Given the description of an element on the screen output the (x, y) to click on. 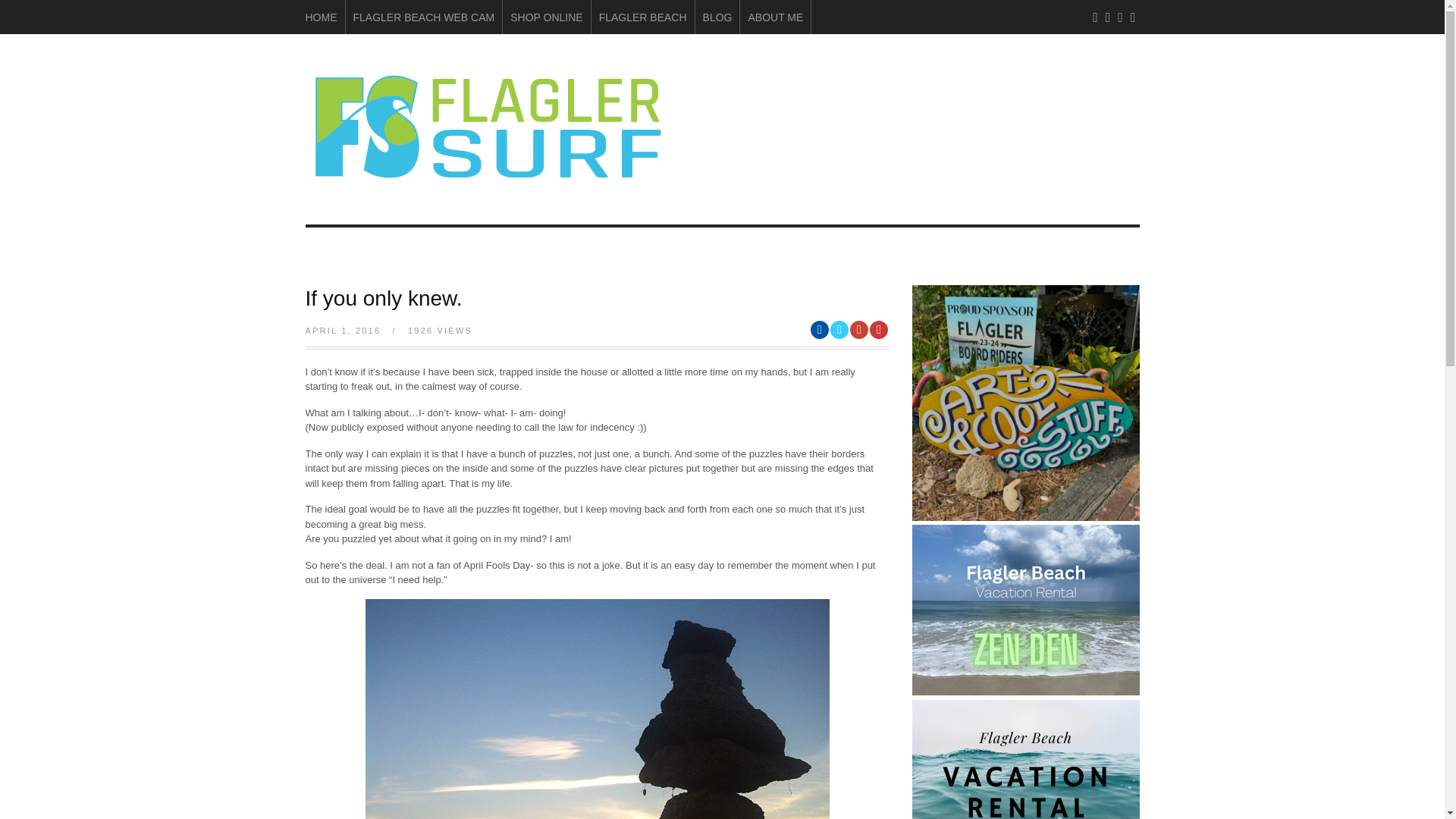
BLOG (717, 17)
FLAGLER BEACH WEB CAM (424, 17)
Flagler Beach Web Cam (424, 17)
HOME (320, 17)
SHOP ONLINE (546, 17)
FLAGLER BEACH (642, 17)
ABOUT ME (775, 17)
